Given the description of an element on the screen output the (x, y) to click on. 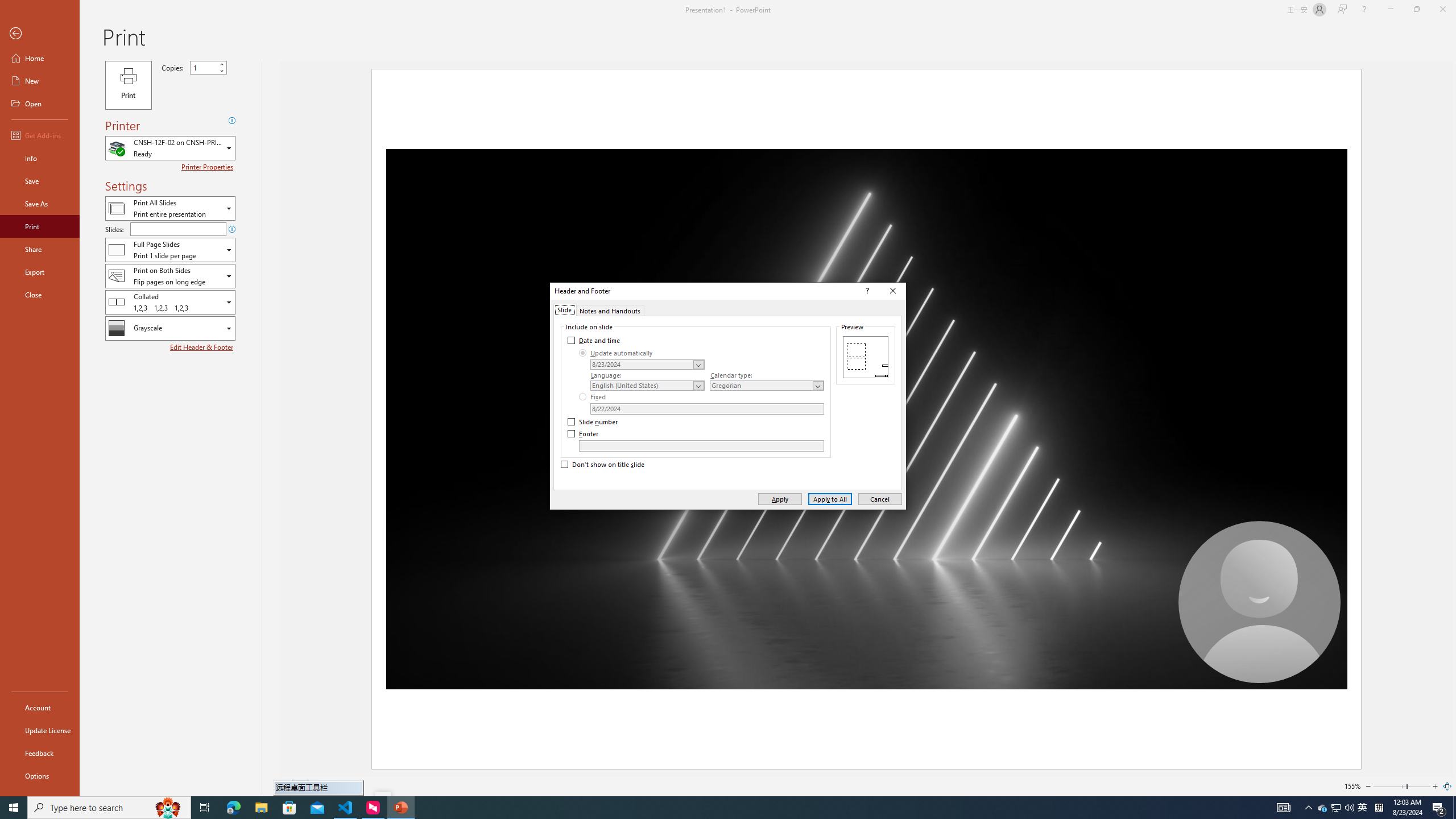
Slide number (592, 421)
Print (127, 84)
Feedback (40, 753)
Running applications (700, 807)
Save As (40, 203)
Which Printer (169, 147)
Current Page (300, 786)
Update License (40, 730)
Export (40, 271)
Action Center, 2 new notifications (1322, 807)
